Given the description of an element on the screen output the (x, y) to click on. 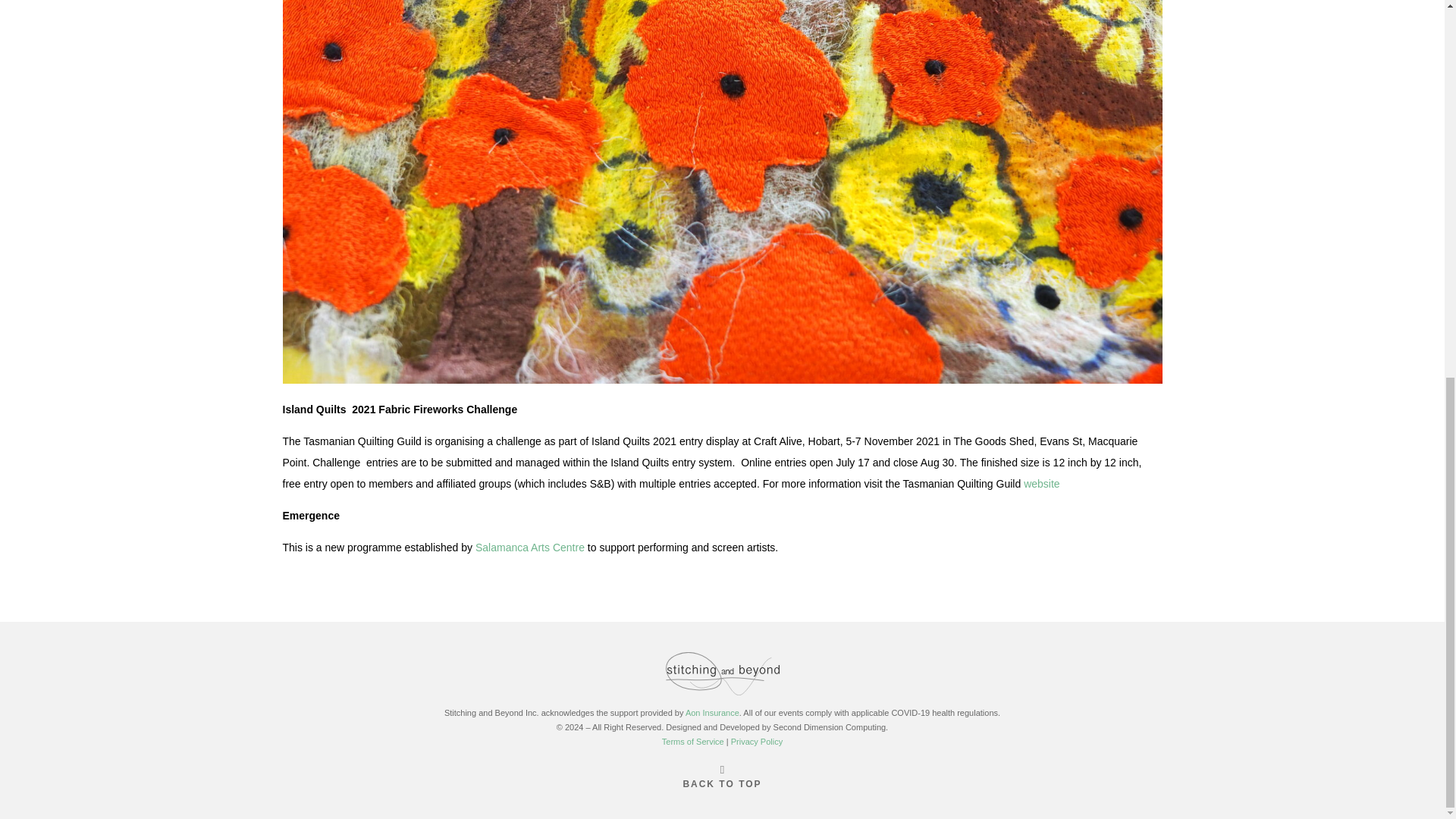
Salamanca Arts Centre (530, 547)
Privacy Policy (756, 741)
Terms of Service (692, 741)
website (1041, 483)
Aon Insurance (712, 712)
BACK TO TOP (721, 783)
